Given the description of an element on the screen output the (x, y) to click on. 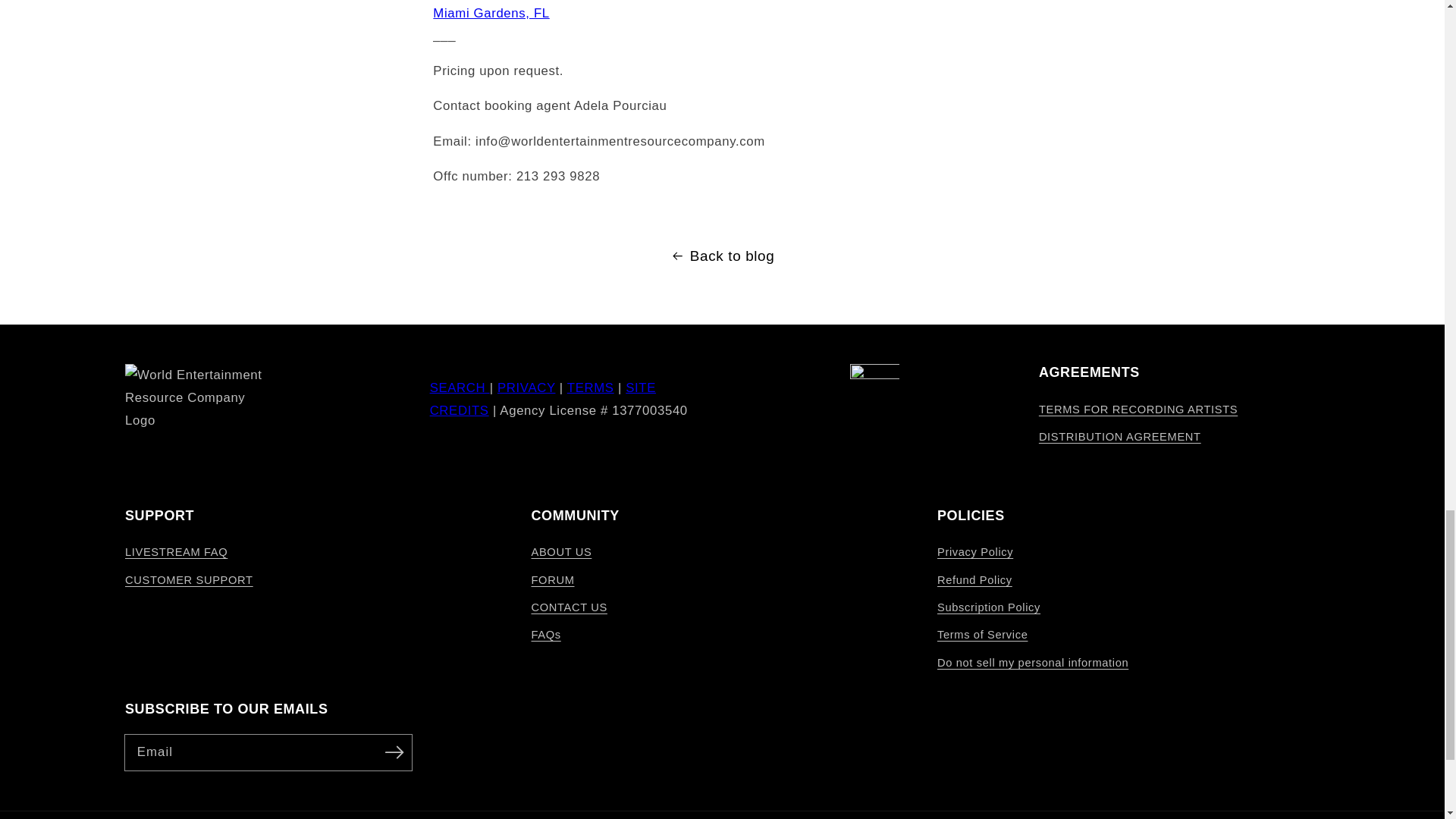
Terms of Service (590, 387)
Privacy Policy (526, 387)
